Given the description of an element on the screen output the (x, y) to click on. 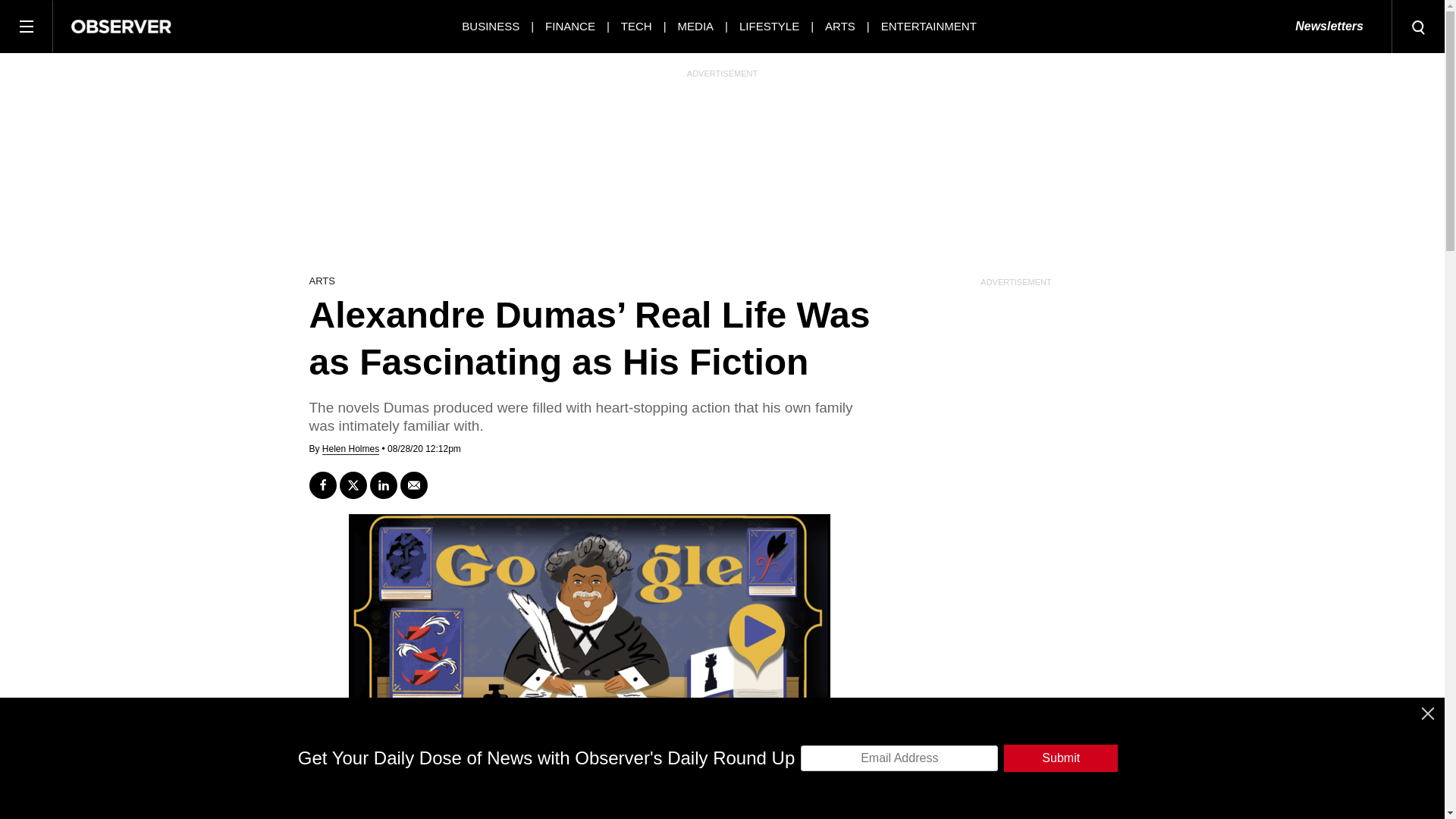
Alexandre Dumas (499, 771)
BUSINESS (490, 25)
Share on LinkedIn (383, 484)
FINANCE (569, 25)
ENTERTAINMENT (928, 25)
View All Posts by Helen Holmes (349, 449)
MEDIA (696, 25)
Send email (414, 484)
Share on Facebook (322, 484)
Tweet (352, 484)
